Given the description of an element on the screen output the (x, y) to click on. 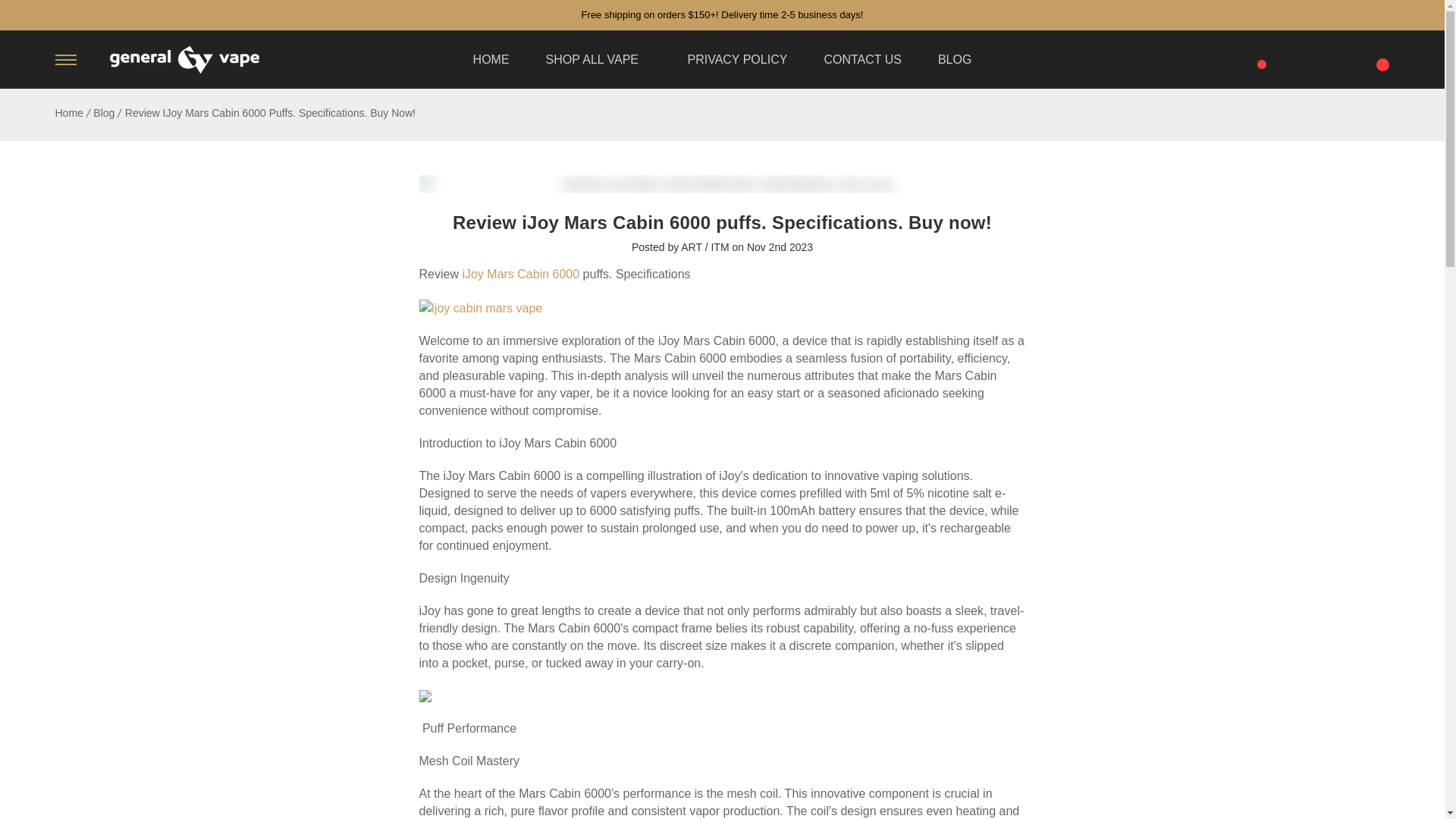
Ijoy cabin mars vape (480, 307)
PRIVACY POLICY (737, 59)
Review iJoy Mars Cabin 6000 puffs. Specifications. Buy now! (722, 184)
General Vape (183, 60)
CONTACT US (862, 59)
SHOP ALL VAPE (598, 59)
